Given the description of an element on the screen output the (x, y) to click on. 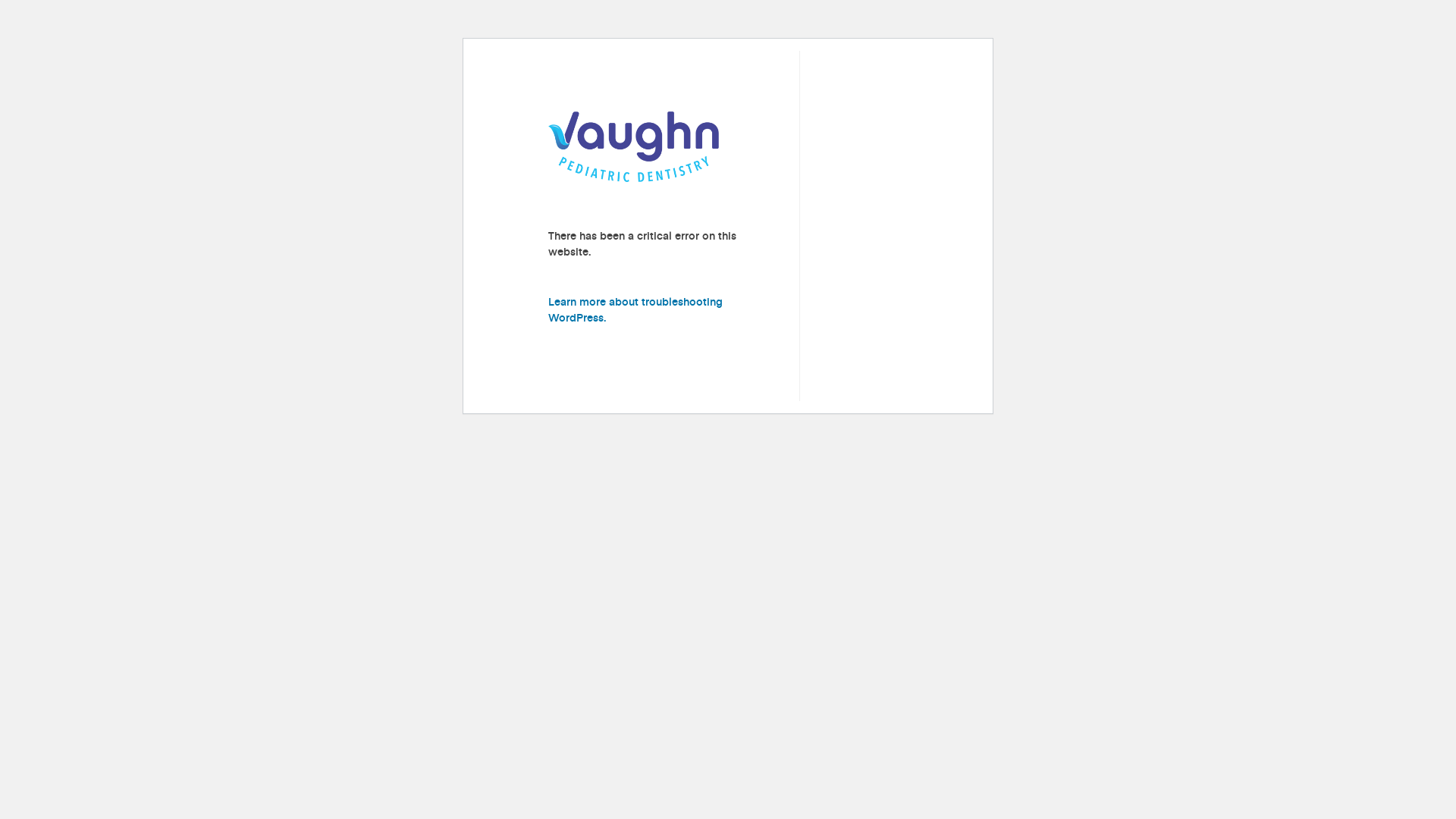
Learn more about troubleshooting WordPress. Element type: text (635, 309)
